Given the description of an element on the screen output the (x, y) to click on. 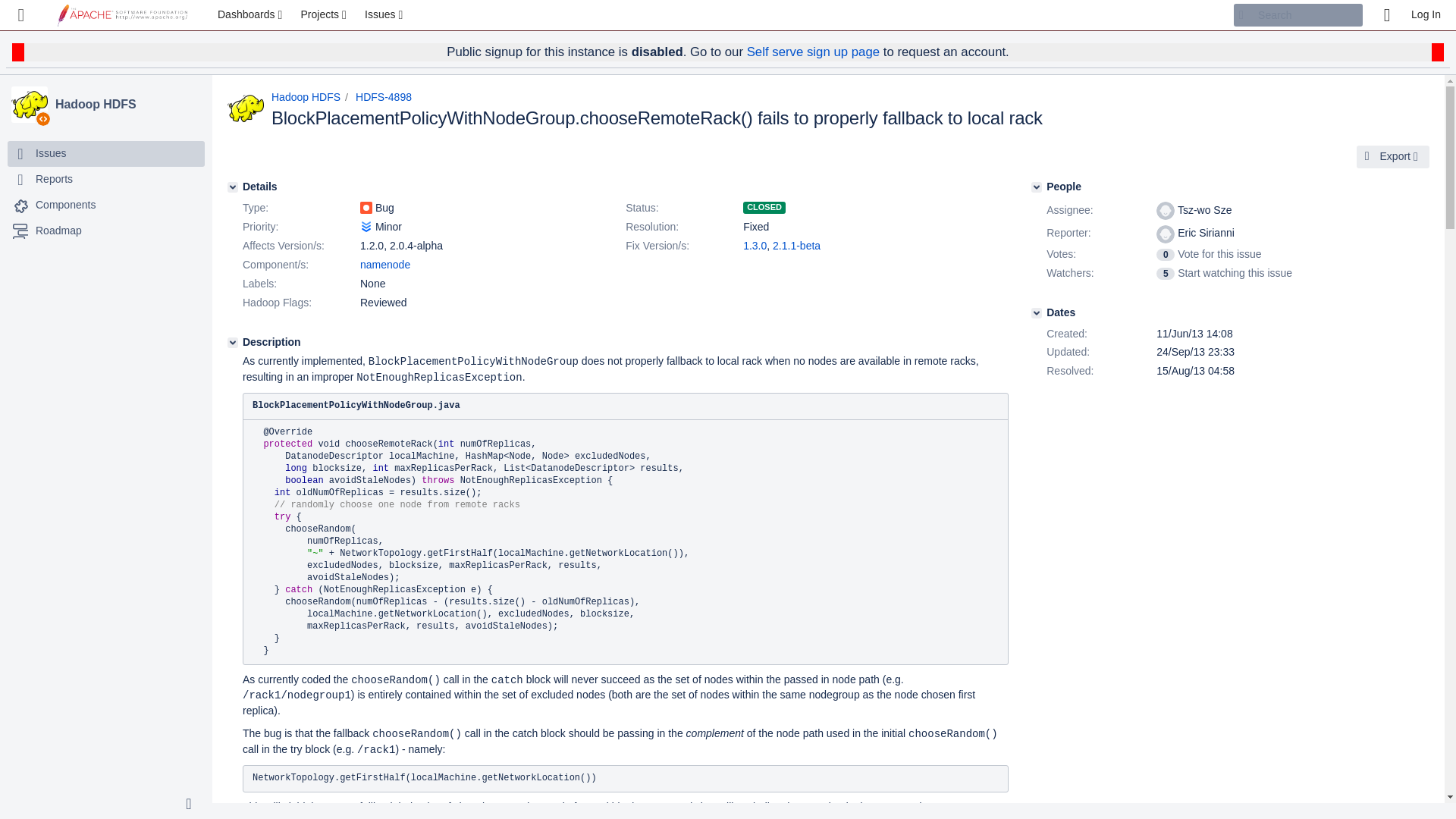
Search for issues and view recent issues (384, 15)
Hadoop HDFS (127, 104)
Issues (384, 15)
Export (1392, 156)
Hadoop HDFS (29, 104)
Help (1386, 15)
Reports (106, 179)
Self serve sign up page (812, 51)
Roadmap (57, 231)
Issues (106, 153)
